Given the description of an element on the screen output the (x, y) to click on. 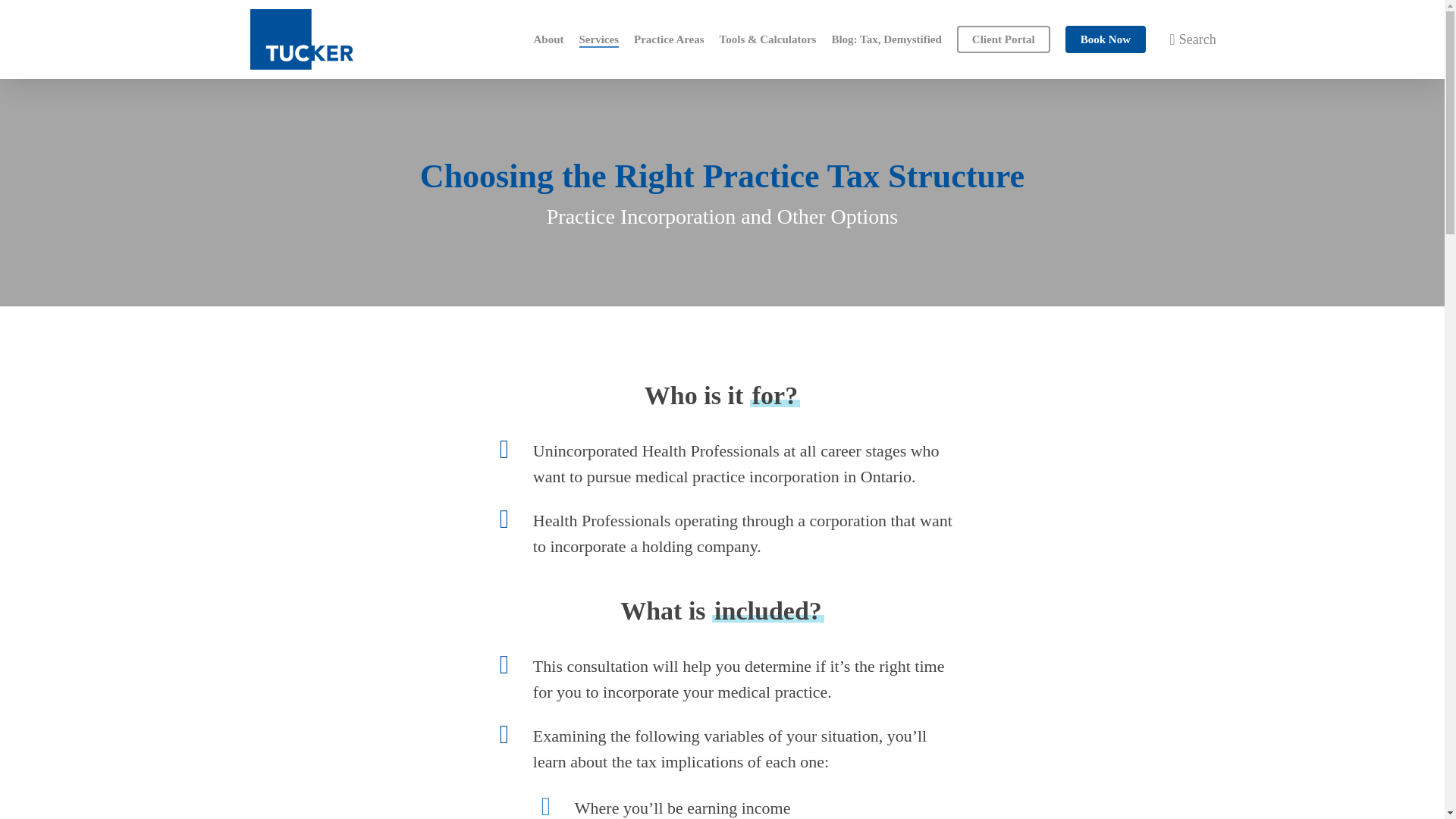
Blog: Tax, Demystified (885, 39)
Services (598, 39)
search (1184, 39)
Book Now (1105, 39)
Client Portal (1002, 39)
About (549, 39)
Practice Areas (668, 39)
